Given the description of an element on the screen output the (x, y) to click on. 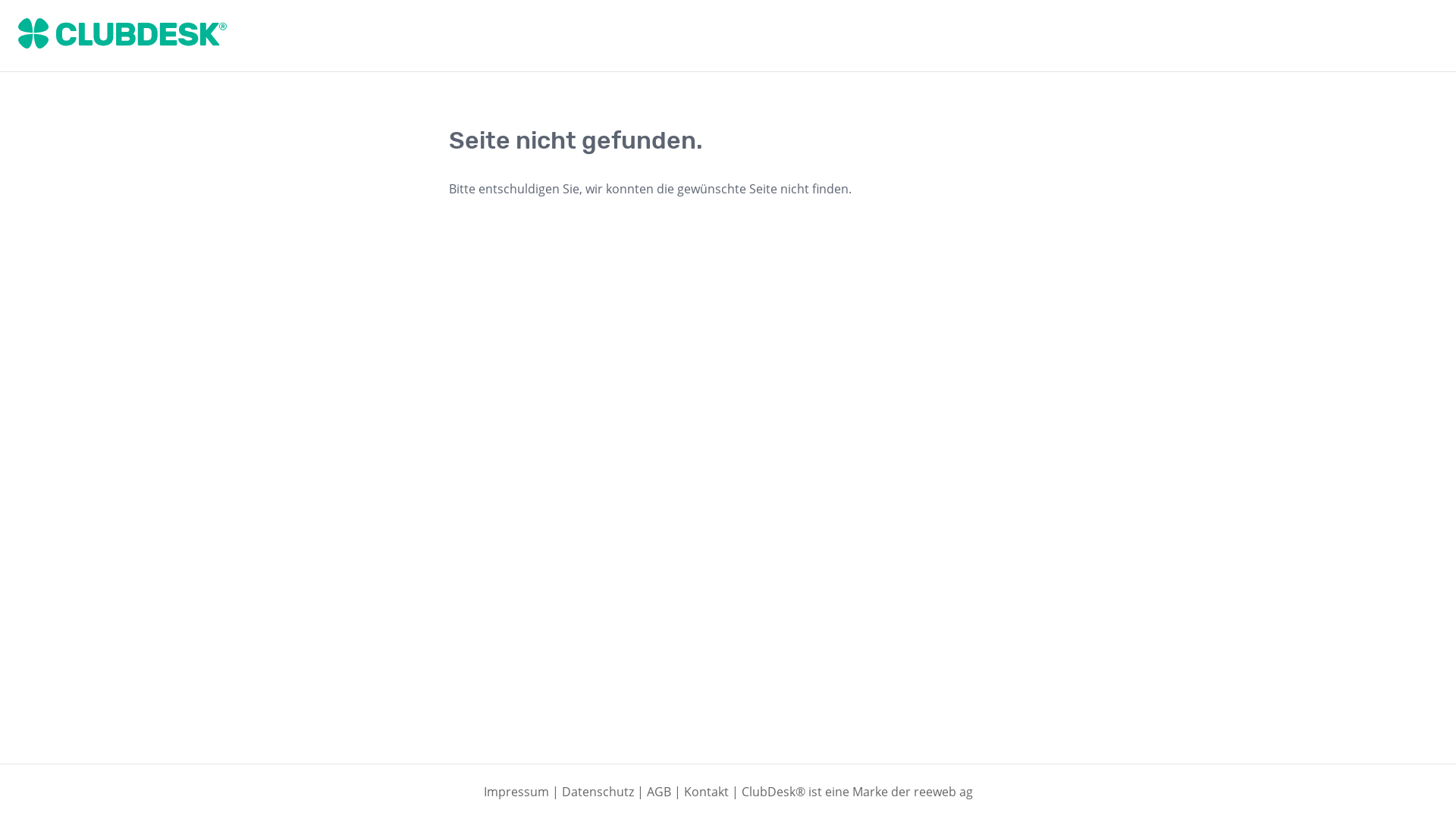
Datenschutz Element type: text (597, 791)
Kontakt Element type: text (706, 791)
AGB Element type: text (658, 791)
Impressum Element type: text (516, 791)
